Given the description of an element on the screen output the (x, y) to click on. 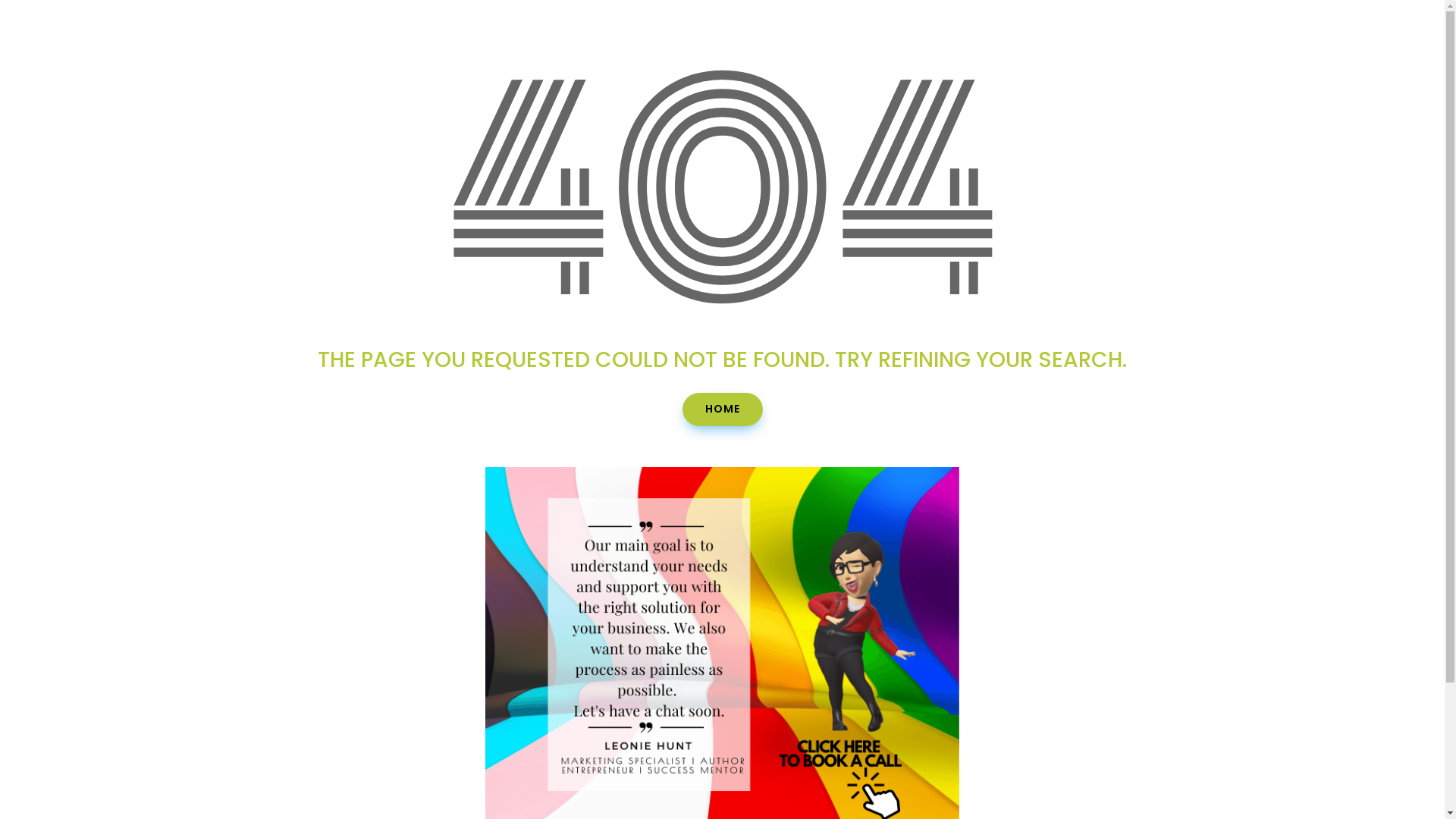
HOME Element type: text (722, 409)
